Given the description of an element on the screen output the (x, y) to click on. 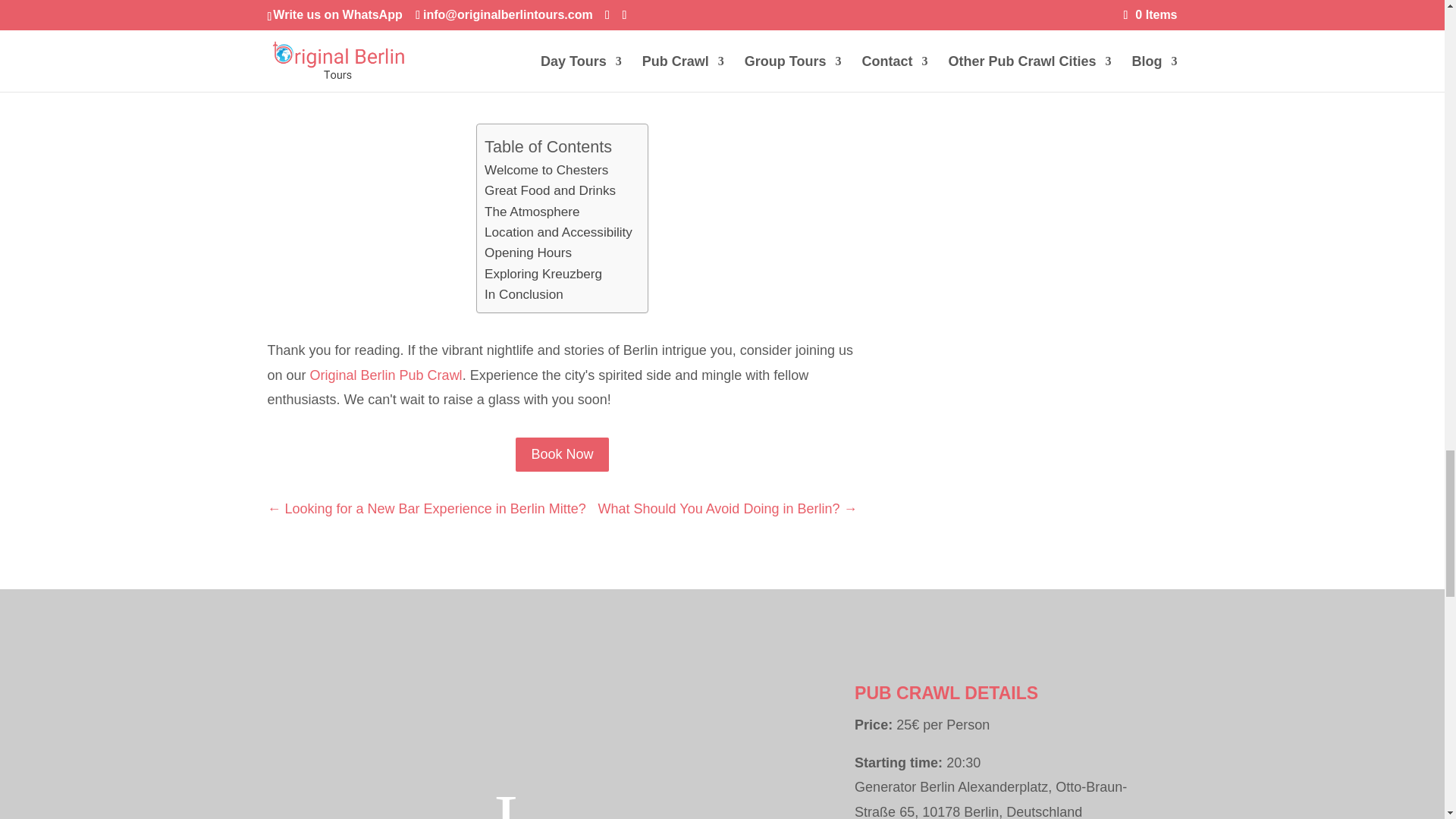
Opening Hours (528, 252)
Original Berlin Tours Pub Crawl Berlins Best Pub Crawl (529, 703)
Exploring Kreuzberg (543, 273)
Location and Accessibility (557, 231)
Welcome to Chesters (546, 169)
In Conclusion (523, 294)
Great Food and Drinks (549, 190)
The Atmosphere (531, 211)
